Given the description of an element on the screen output the (x, y) to click on. 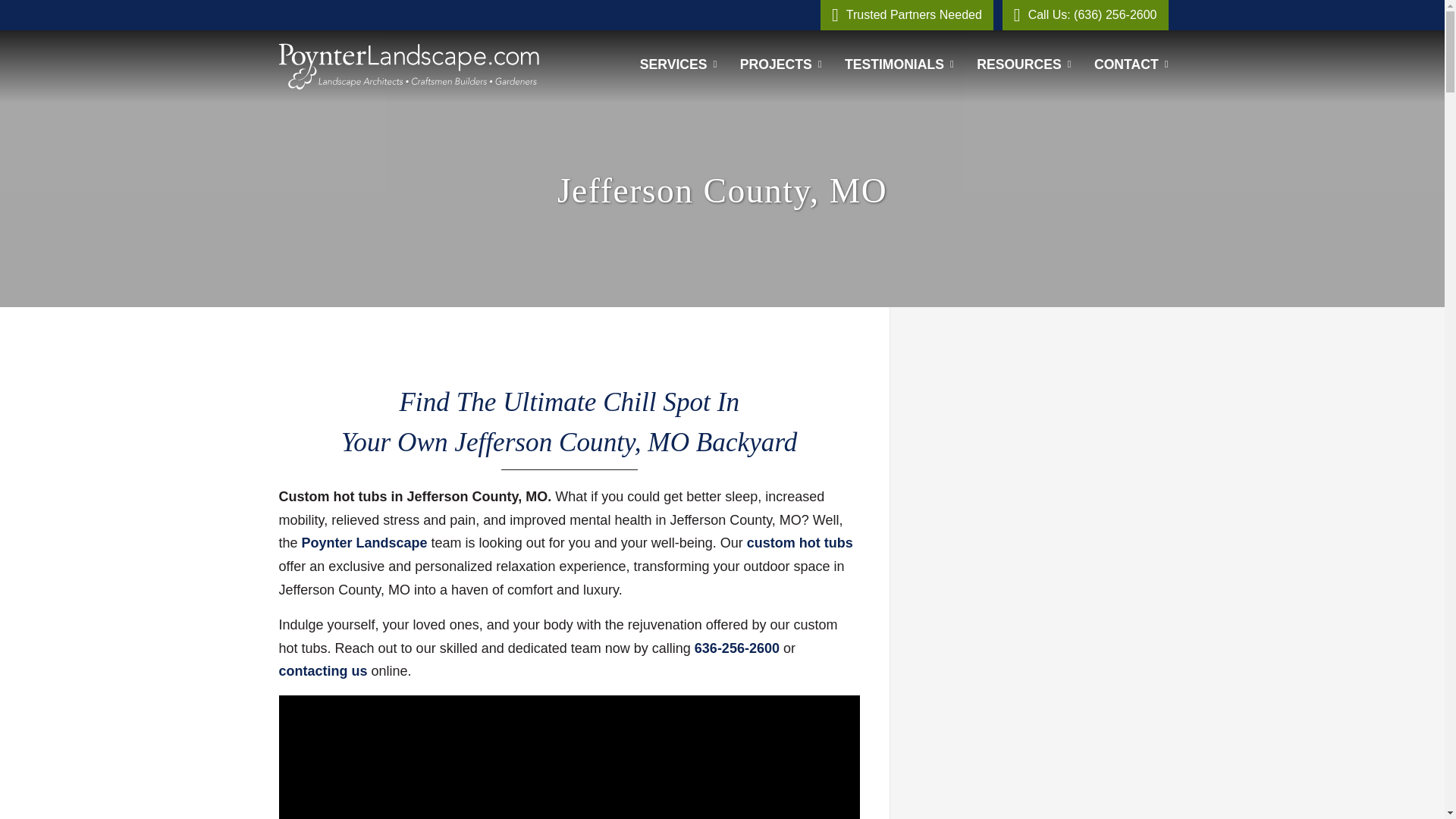
Trusted Partners Needed (906, 15)
SERVICES (678, 64)
PROJECTS (780, 64)
